Given the description of an element on the screen output the (x, y) to click on. 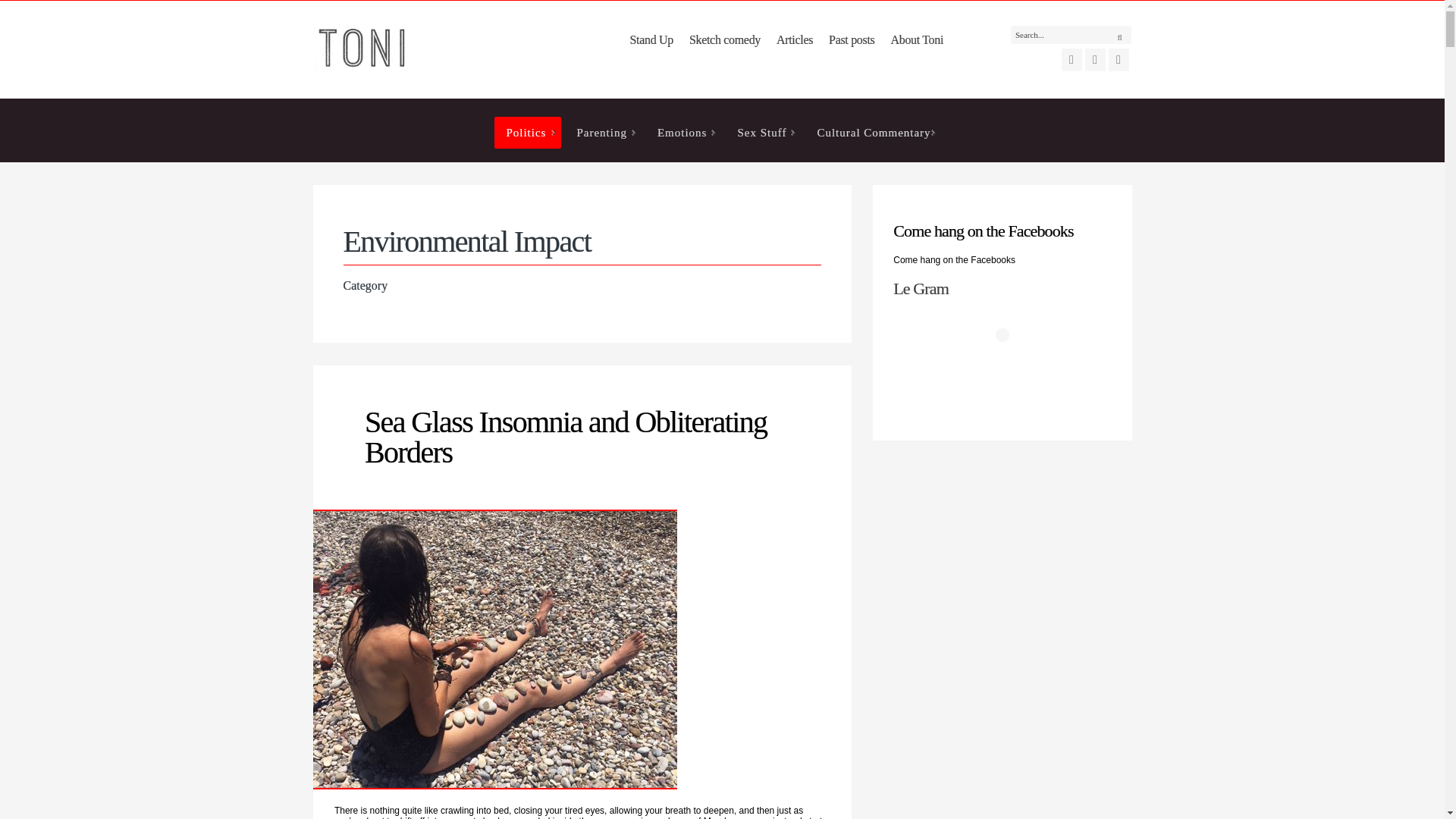
Articles (794, 39)
Politics (527, 132)
You Tube (1118, 59)
Facebook (1071, 59)
Parenting (603, 132)
Stand Up (650, 39)
Instagram (1094, 59)
Sketch comedy (724, 39)
Past posts (851, 39)
Search... (1070, 34)
About Toni (916, 39)
